Given the description of an element on the screen output the (x, y) to click on. 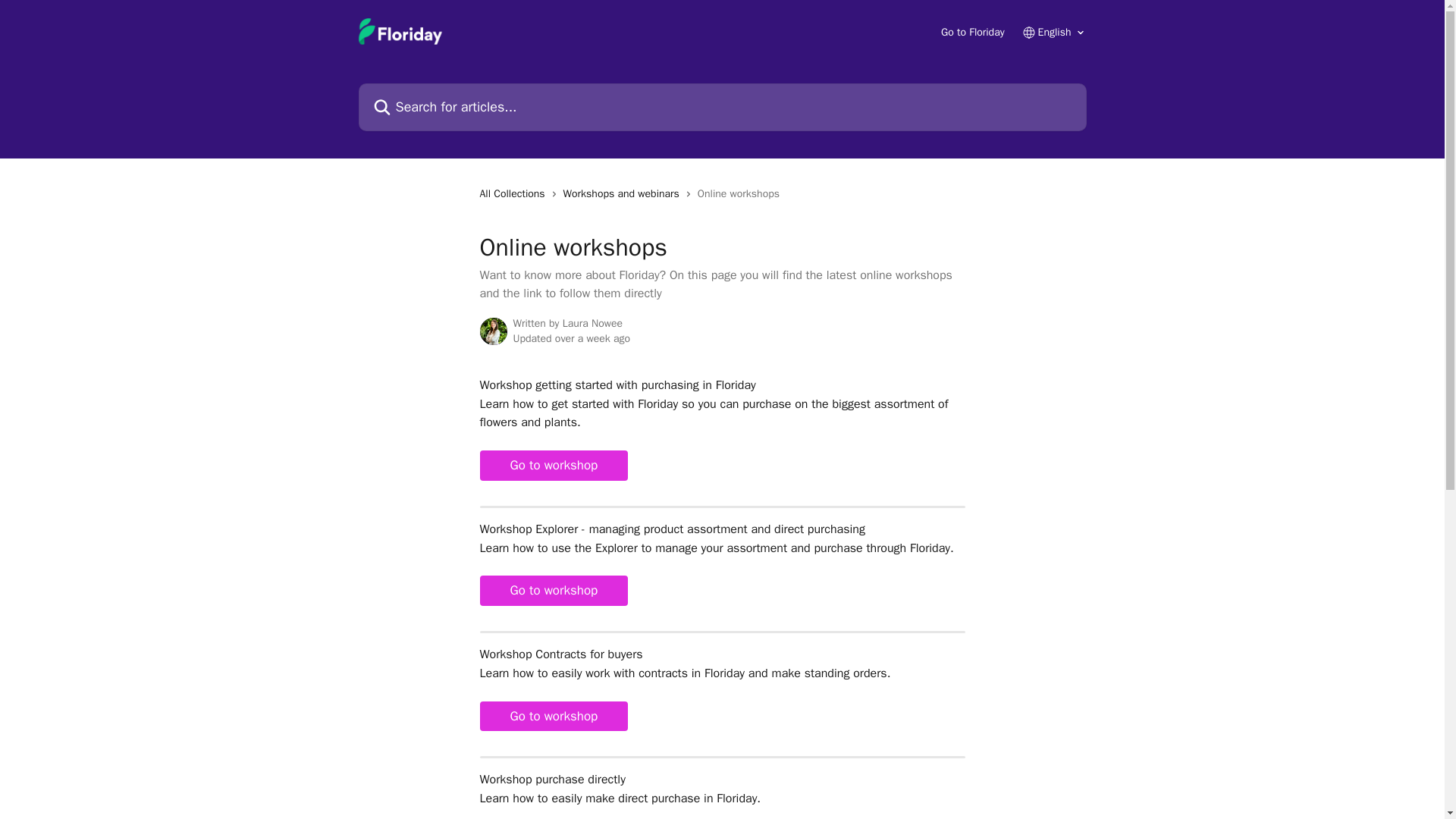
All Collections (514, 193)
Go to workshop (553, 465)
Go to Floriday (972, 32)
Workshops and webinars (624, 193)
Go to workshop (553, 716)
Go to workshop (553, 590)
